Given the description of an element on the screen output the (x, y) to click on. 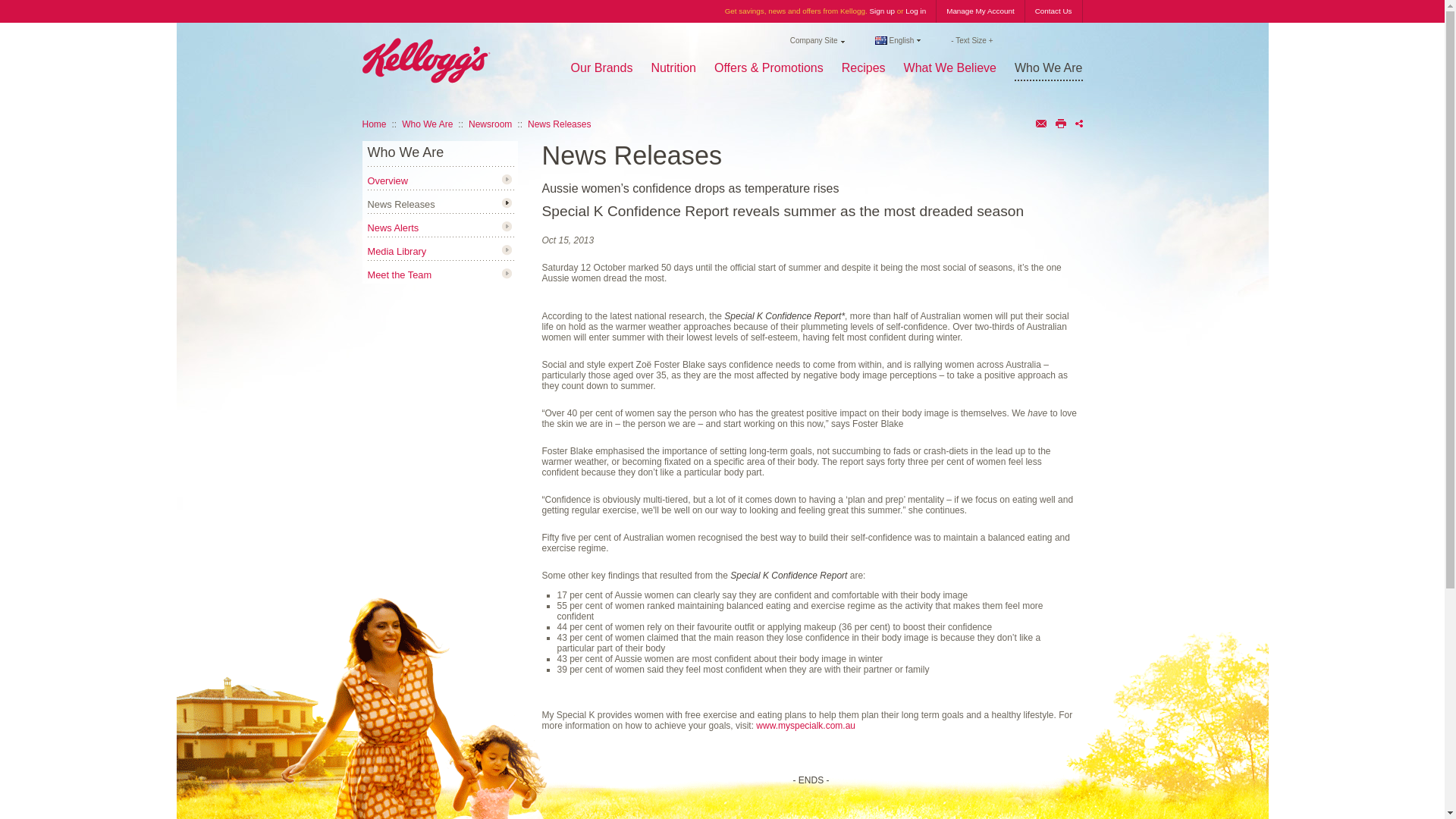
News Alerts (401, 224)
Nutrition (672, 67)
Logo Image (426, 60)
Sign up (882, 10)
English (898, 40)
Text Size (971, 40)
Recipes (863, 67)
Nutrition (672, 67)
Home (374, 123)
Overview (395, 177)
What We Believe (949, 67)
Media Library (405, 248)
News Releases (409, 200)
What We Believe (949, 67)
Log in (915, 10)
